Given the description of an element on the screen output the (x, y) to click on. 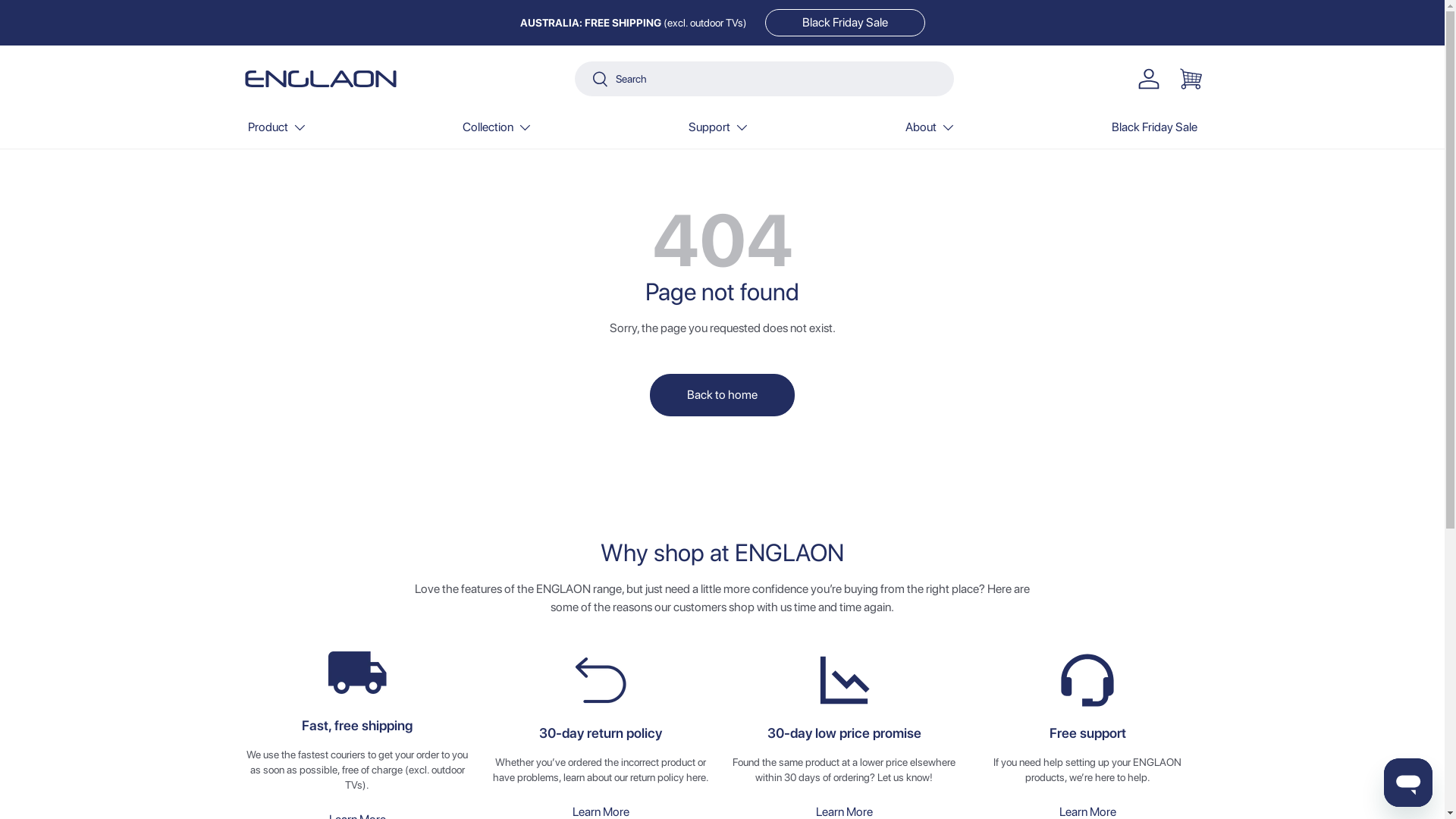
Search Element type: text (591, 79)
Collection Element type: text (497, 130)
Product Element type: text (276, 130)
Basket Element type: text (1190, 78)
About Element type: text (930, 130)
Button to launch messaging window Element type: hover (1407, 782)
Log in Element type: text (1147, 78)
Black Friday Sale Element type: text (1154, 130)
Skip to content Element type: text (104, 23)
Back to home Element type: text (721, 394)
Support Element type: text (718, 130)
Black Friday Sale Element type: text (844, 22)
